Given the description of an element on the screen output the (x, y) to click on. 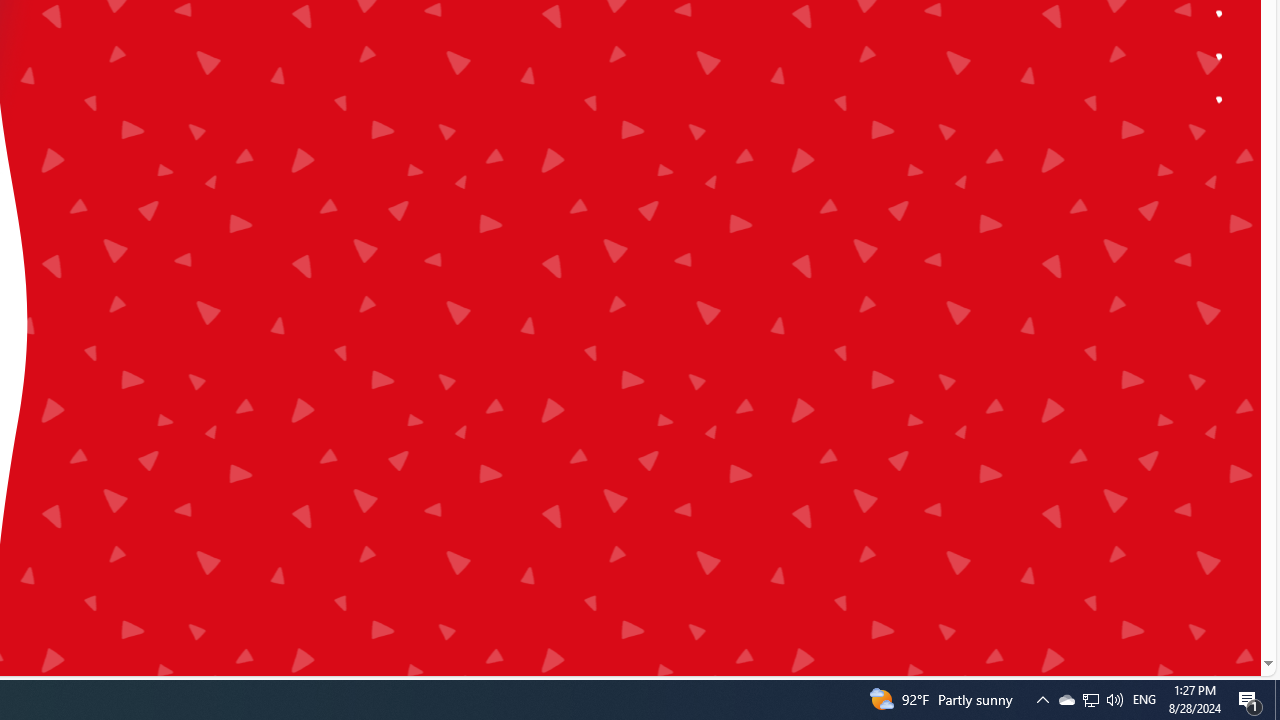
02 Toys & Play (391, 179)
Class: ytk__arrow-link-icon ytk-desktop-up-only-inline (327, 58)
Download the free YouTube Kids app. (1219, 99)
02Toys & Play (391, 179)
Download the free YouTube Kids app. (1219, 99)
04Shows & Cartoons (391, 263)
01Arts & Crafts (391, 136)
03Learning & Hobbies (391, 220)
Class: ytk-dot-nav__circle (1219, 98)
CONTINUE EXPLORING (233, 61)
Class: ytk-dot-nav__dot (1219, 99)
03 Learning & Hobbies (391, 220)
04 Shows & Cartoons (391, 263)
All kinds of videos for all kinds of kids. (1219, 56)
01 Arts & Crafts (391, 136)
